Given the description of an element on the screen output the (x, y) to click on. 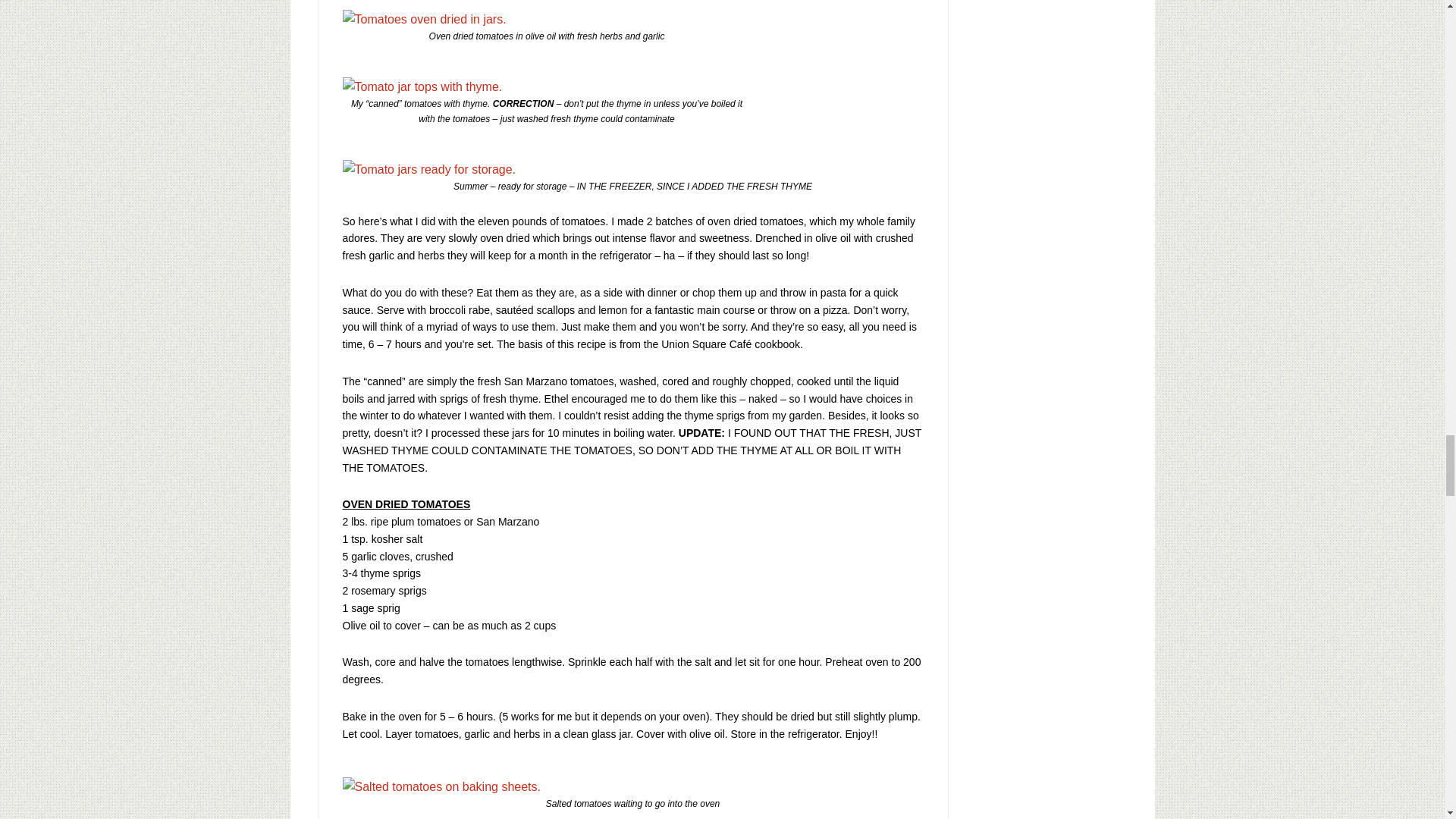
Tomatoes oven dried in jars (424, 19)
Tomatoes on baking sheets (441, 786)
Tomato jar tops (422, 86)
Tomatoes processed (429, 169)
